Given the description of an element on the screen output the (x, y) to click on. 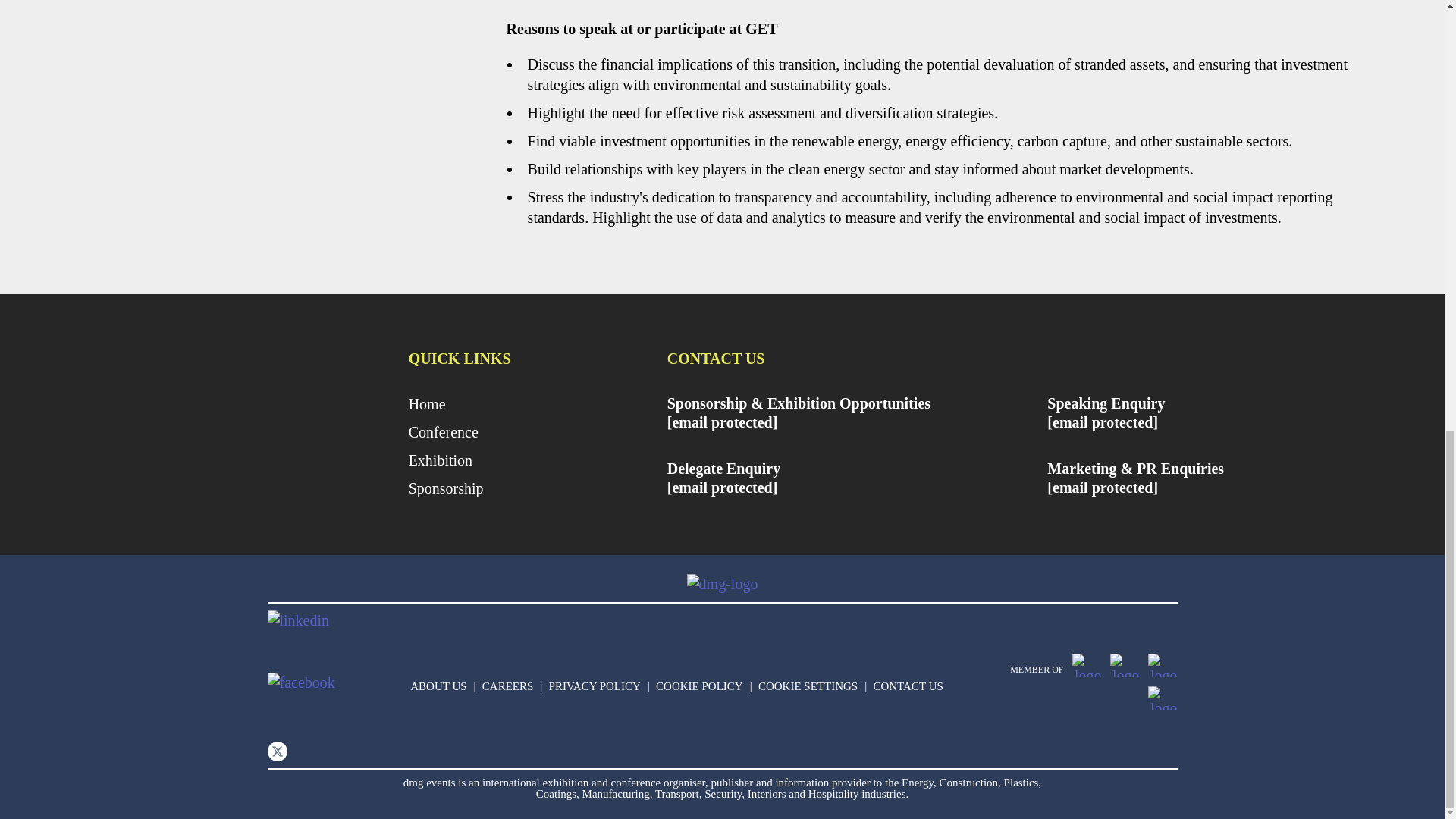
About the exhibition (534, 460)
About the Conference (534, 432)
Home (534, 403)
Sponsorship (534, 488)
